Given the description of an element on the screen output the (x, y) to click on. 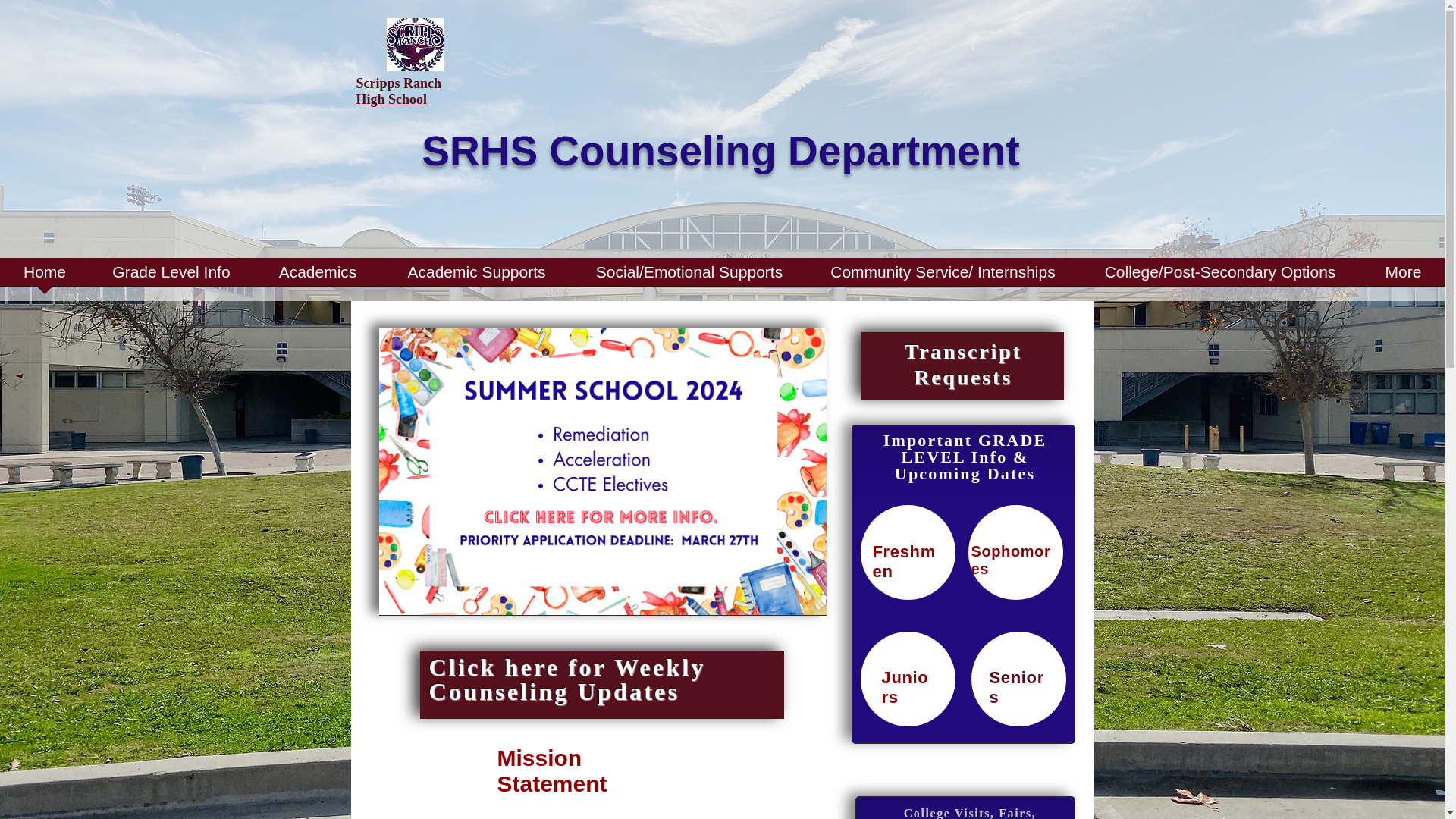
Academics (317, 276)
Scripps Ranch High School (399, 91)
Grade Level Info (170, 276)
Academic Supports (475, 276)
Home (44, 276)
SRHS Counseling Department (720, 150)
